Given the description of an element on the screen output the (x, y) to click on. 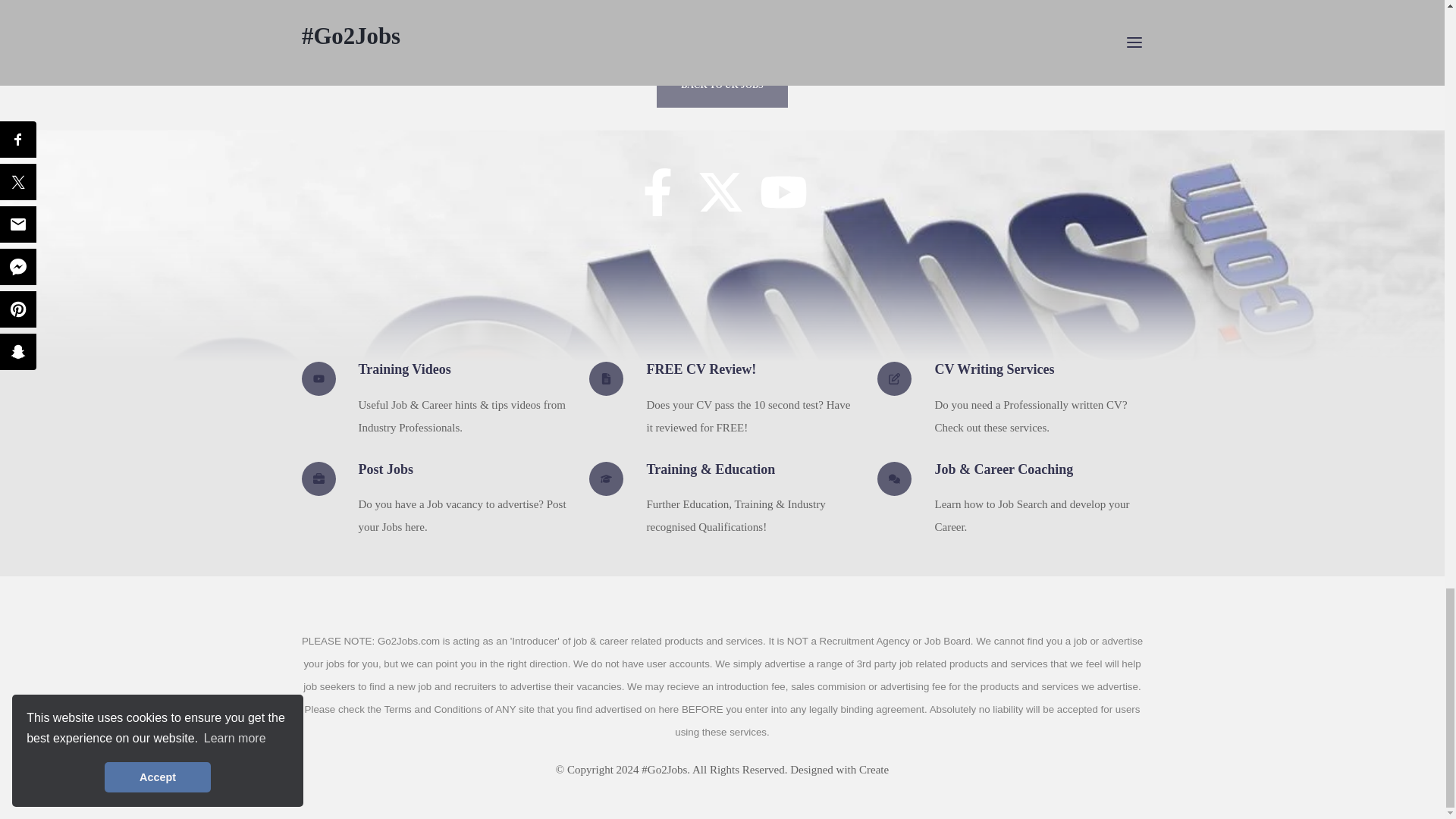
Back to Job Search UK (721, 85)
East Sussex Jobs on Facebook (657, 199)
